Given the description of an element on the screen output the (x, y) to click on. 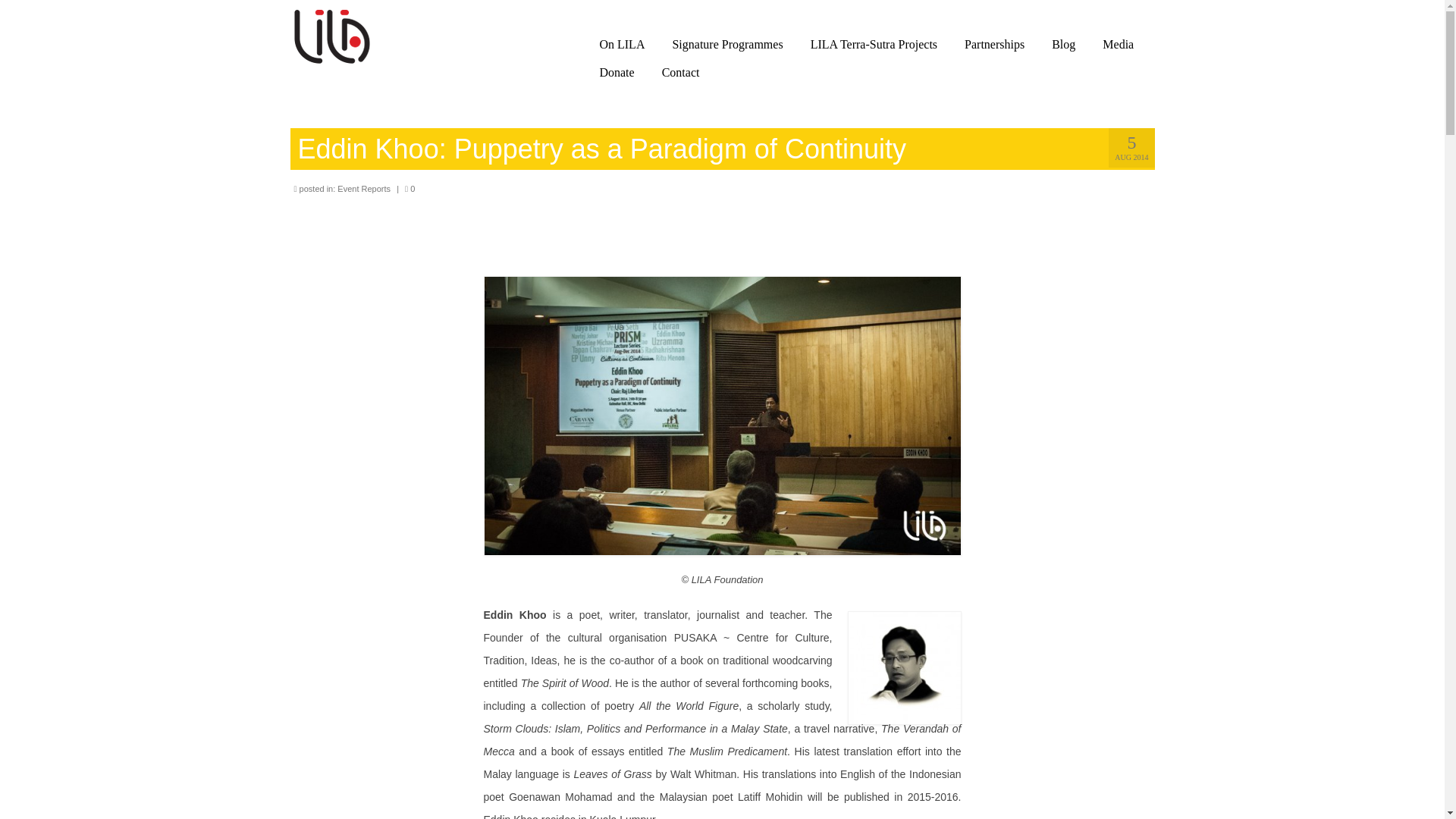
On LILA (621, 44)
LILA Terra-Sutra Projects (873, 44)
Signature Programmes (727, 44)
